Given the description of an element on the screen output the (x, y) to click on. 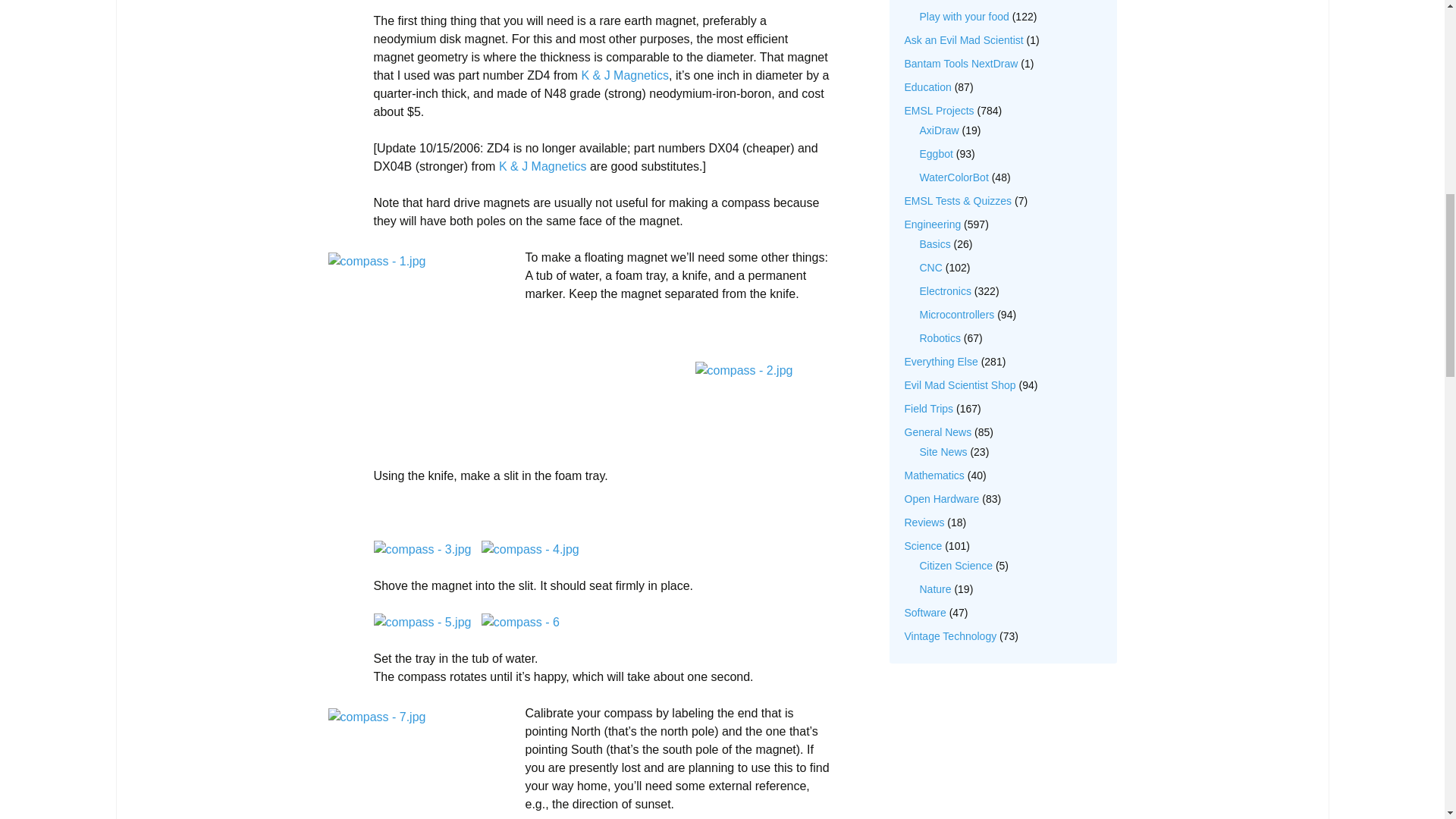
Photo Sharing (421, 548)
